Given the description of an element on the screen output the (x, y) to click on. 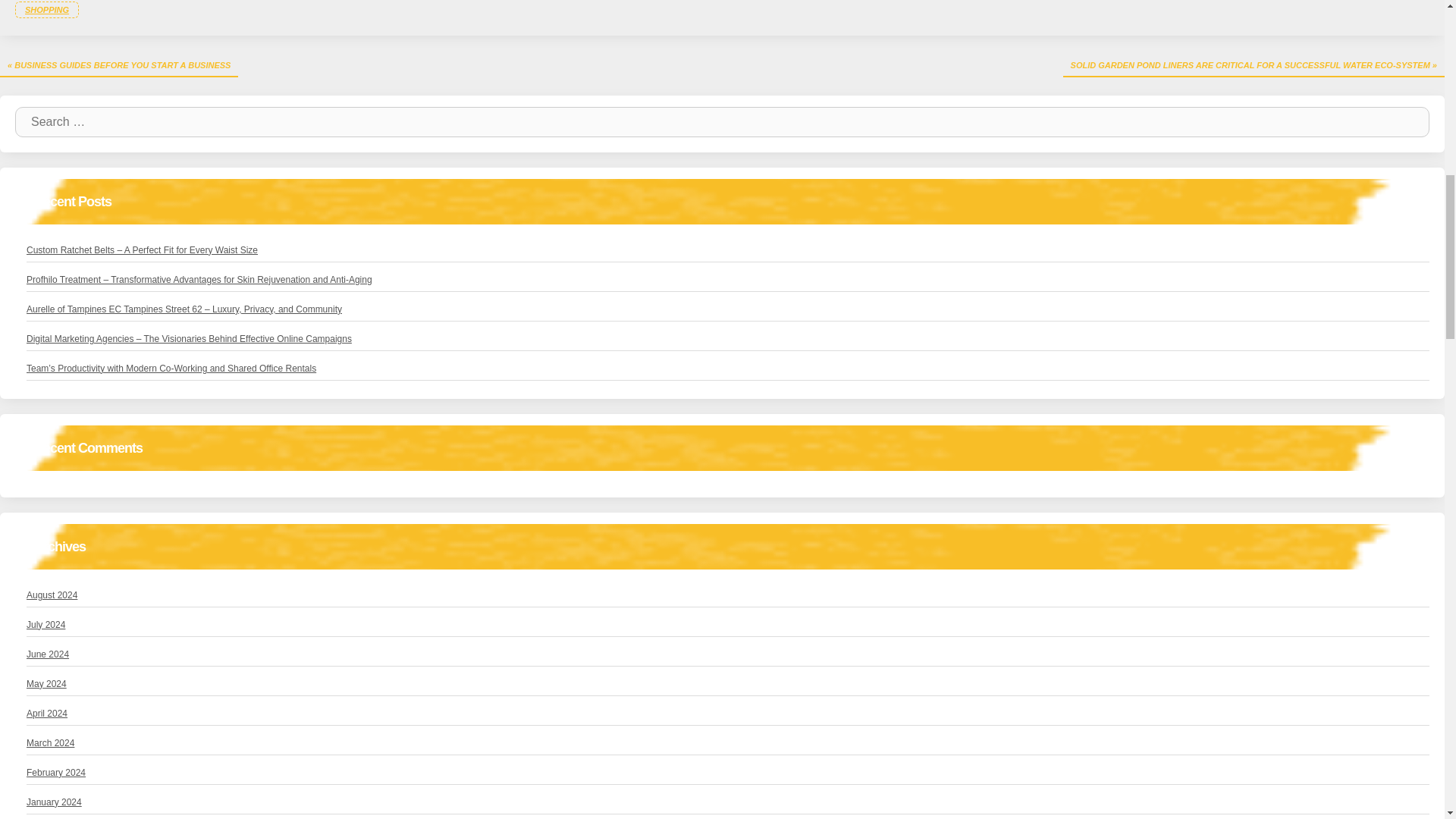
February 2024 (55, 772)
January 2024 (53, 802)
BUSINESS GUIDES BEFORE YOU START A BUSINESS (119, 65)
Search (1406, 122)
Search (1406, 122)
May 2024 (46, 684)
April 2024 (46, 713)
March 2024 (50, 743)
June 2024 (47, 653)
August 2024 (51, 594)
